Given the description of an element on the screen output the (x, y) to click on. 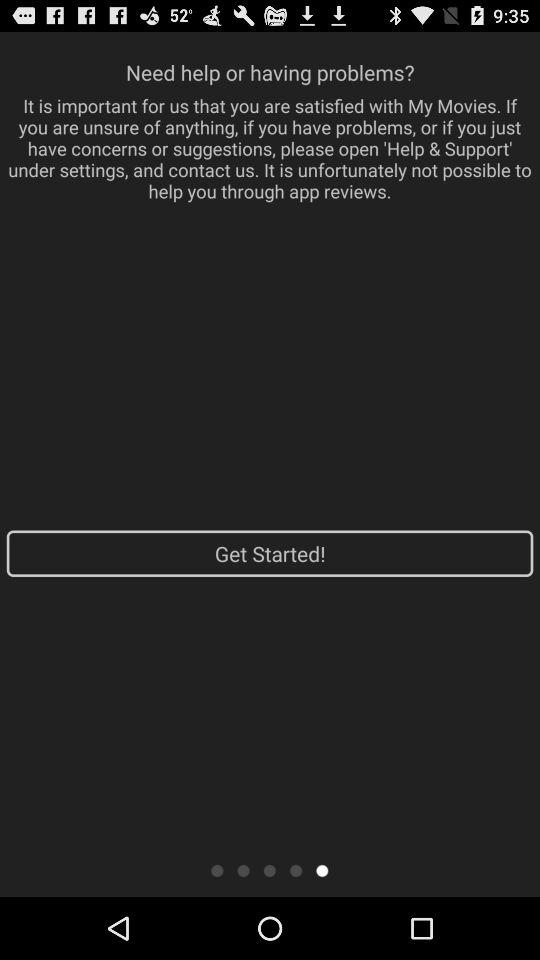
slide button (321, 870)
